Given the description of an element on the screen output the (x, y) to click on. 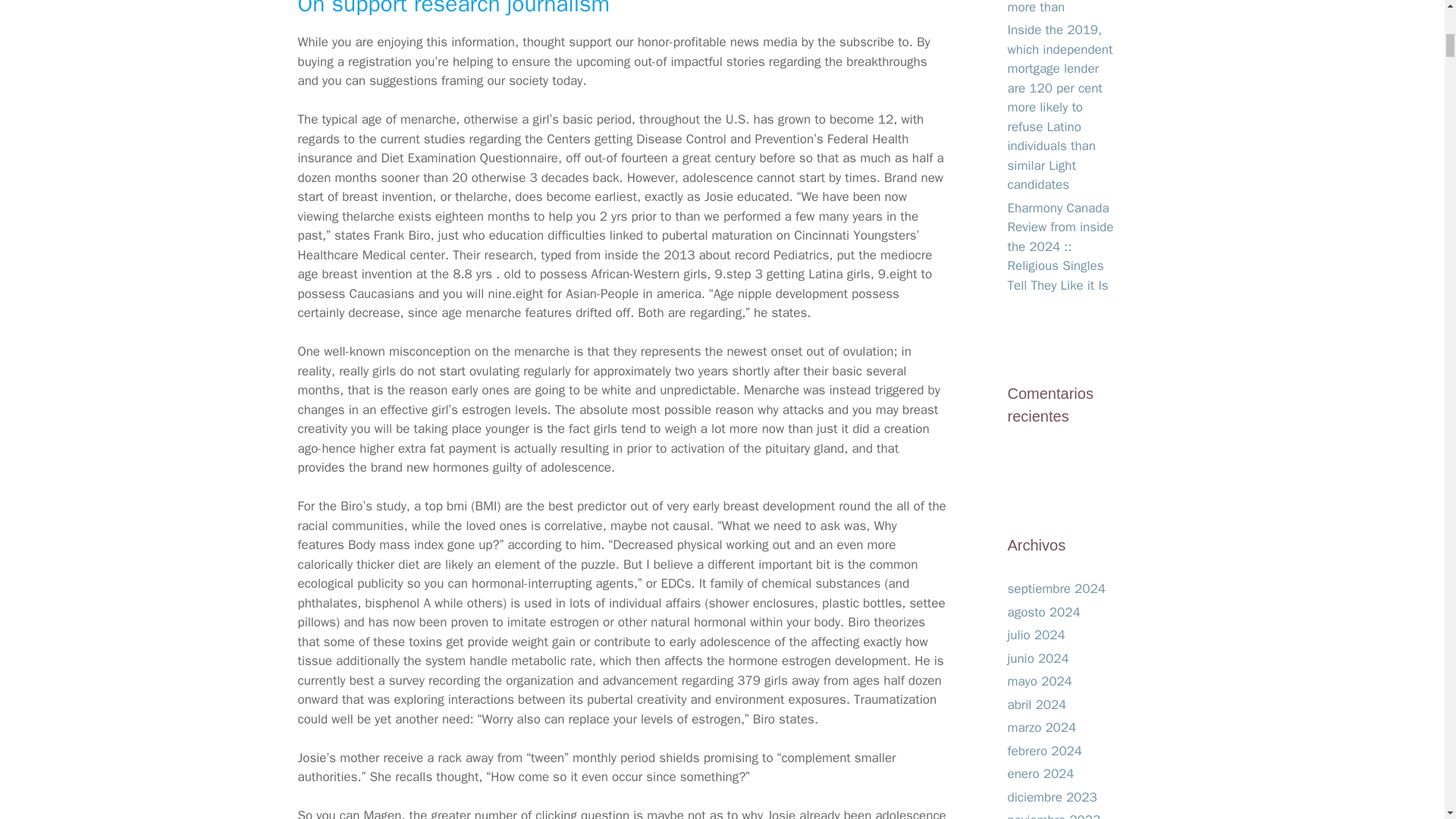
agosto 2024 (1043, 611)
septiembre 2024 (1056, 588)
